Given the description of an element on the screen output the (x, y) to click on. 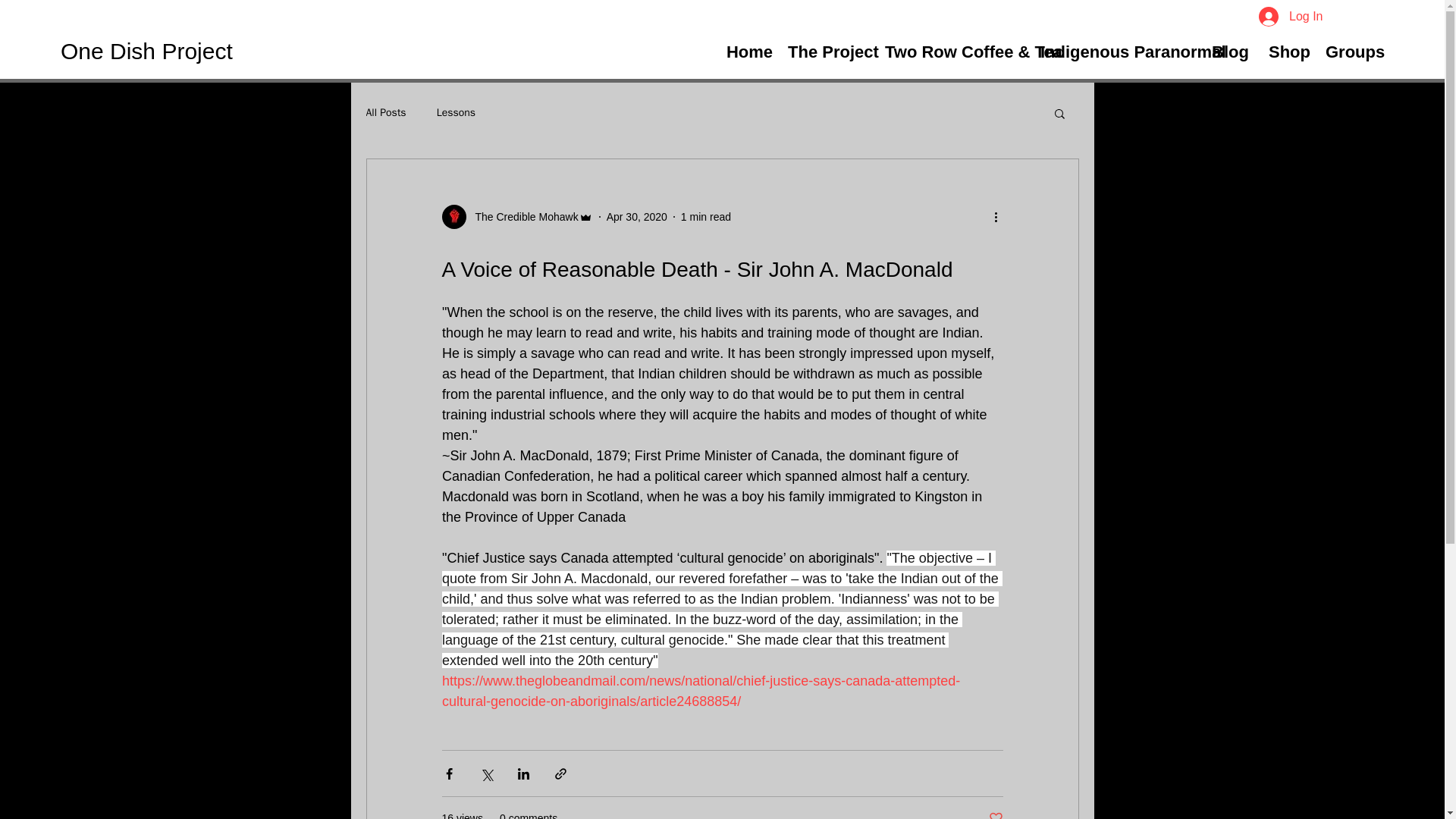
One Dish Project (470, 51)
The Credible Mohawk (516, 216)
Lessons (456, 112)
Indigenous Paranormal (1114, 51)
Apr 30, 2020 (636, 216)
Home (747, 51)
Groups (1354, 51)
1 min read (705, 216)
All Posts (385, 112)
Log In (1290, 16)
